Given the description of an element on the screen output the (x, y) to click on. 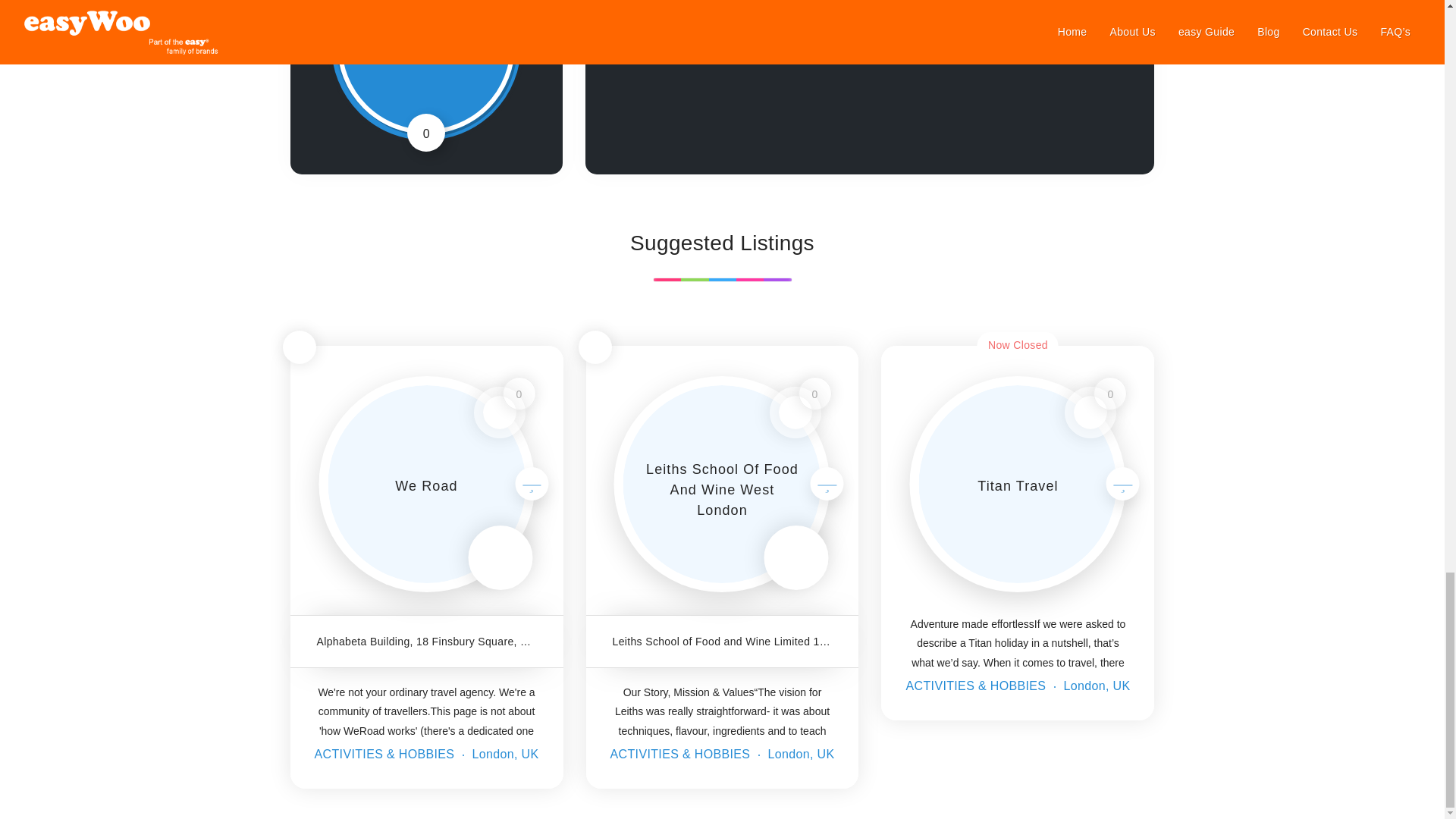
Is it Near Me? (594, 346)
Is it Near Me? (298, 346)
